Given the description of an element on the screen output the (x, y) to click on. 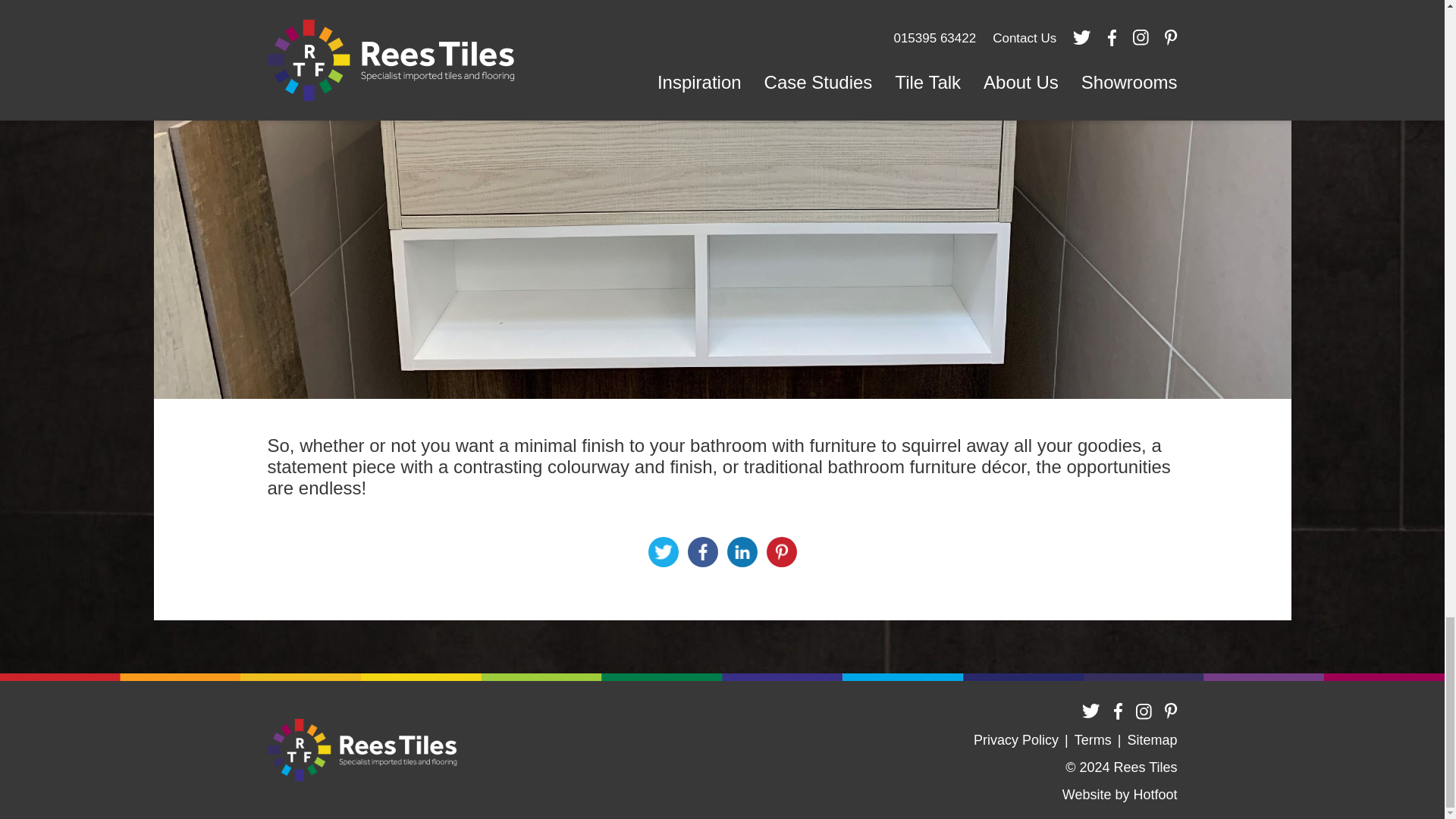
Privacy Policy (1016, 740)
Hotfoot (1154, 794)
instagram (1143, 711)
twitter (1090, 710)
instagram (1143, 711)
twitter (1090, 710)
Terms (1093, 740)
Sitemap (1151, 740)
